Given the description of an element on the screen output the (x, y) to click on. 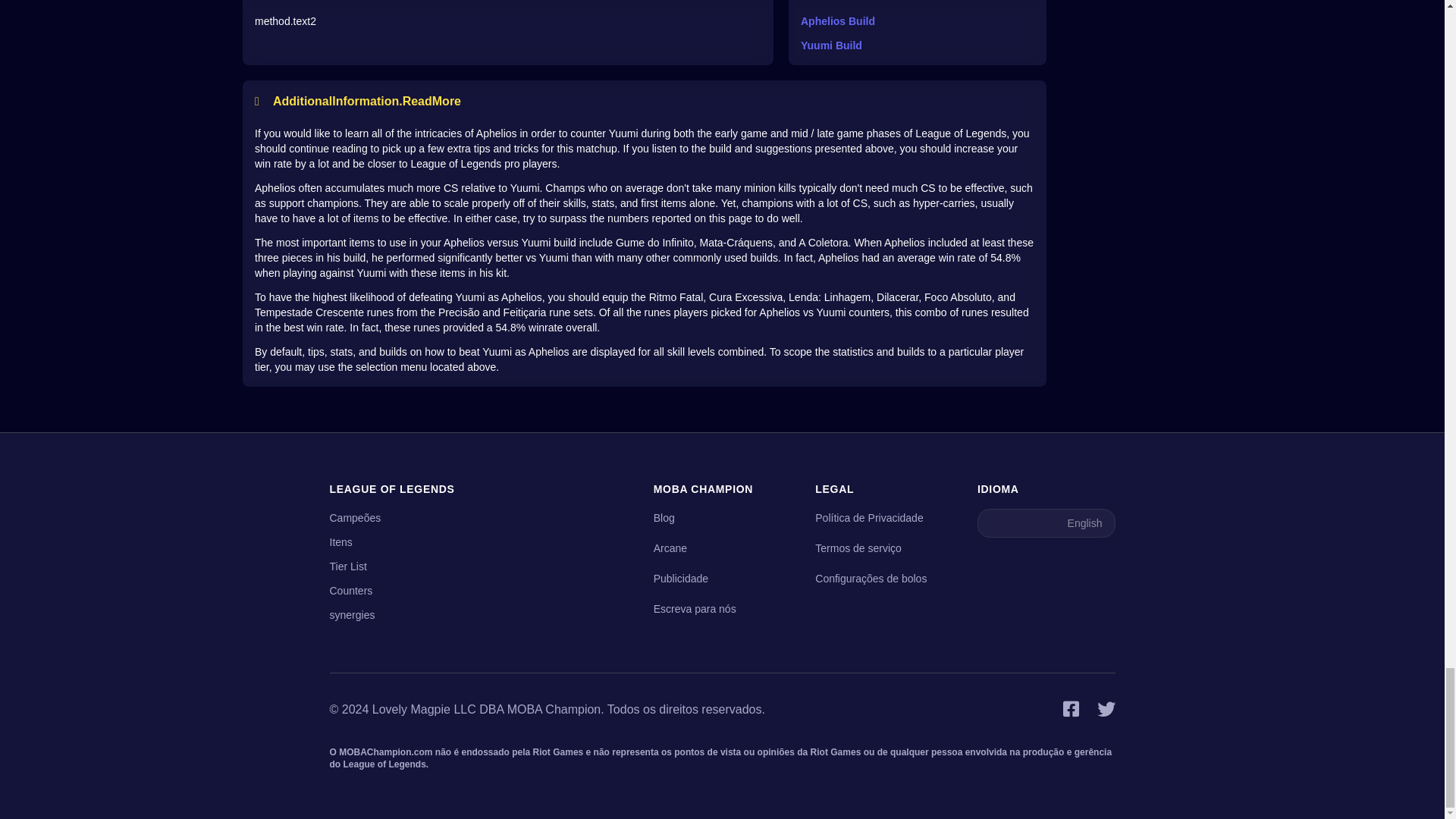
Tier List (347, 566)
Itens (340, 541)
Yuumi Build (916, 45)
Aphelios Build (916, 20)
